Given the description of an element on the screen output the (x, y) to click on. 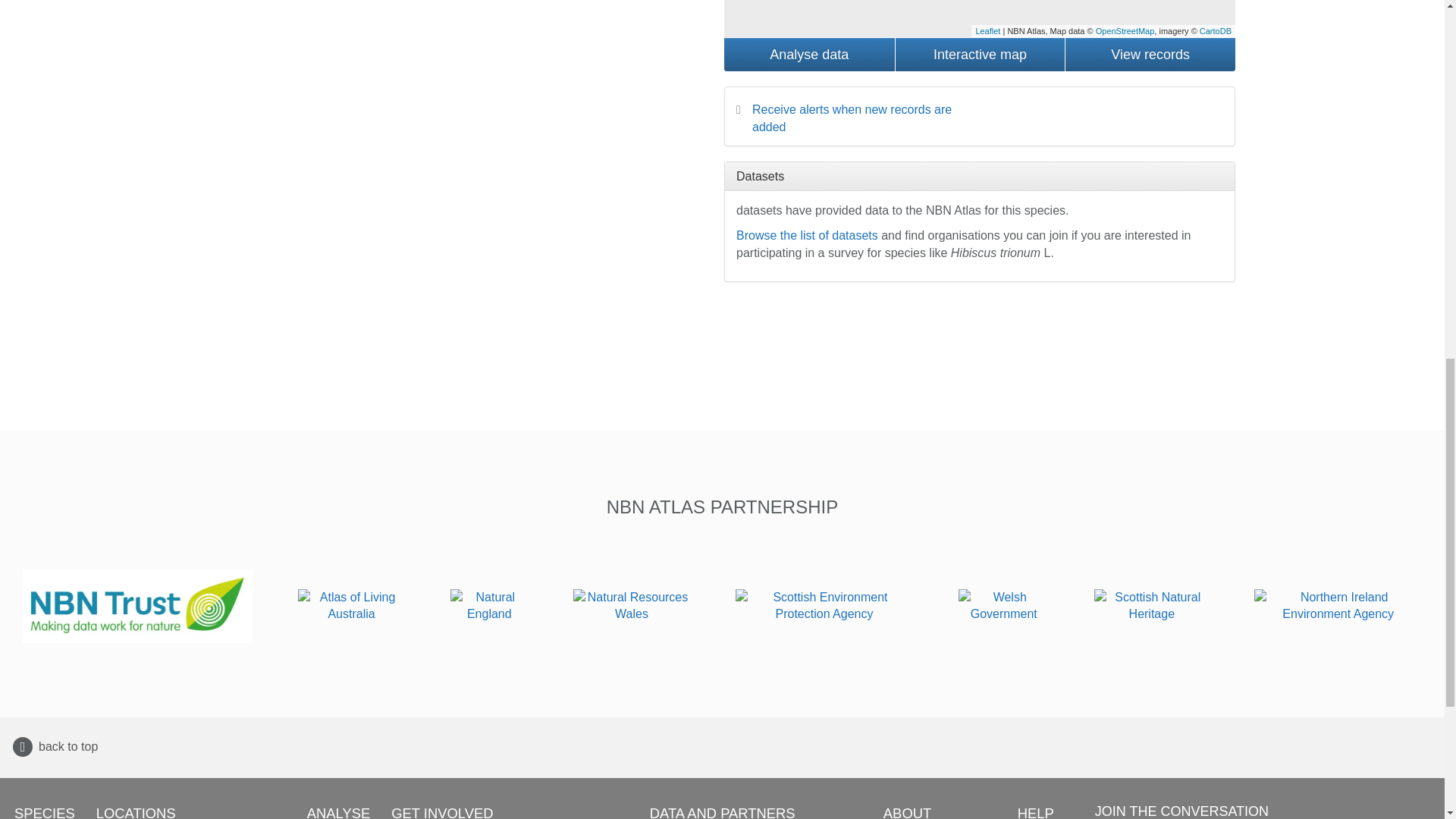
View a simple map of the records for this taxon (980, 54)
Analyse data for this taxon using advance map tools (809, 54)
View a list of the records for this taxon (1149, 54)
A JS library for interactive maps (987, 31)
